Given the description of an element on the screen output the (x, y) to click on. 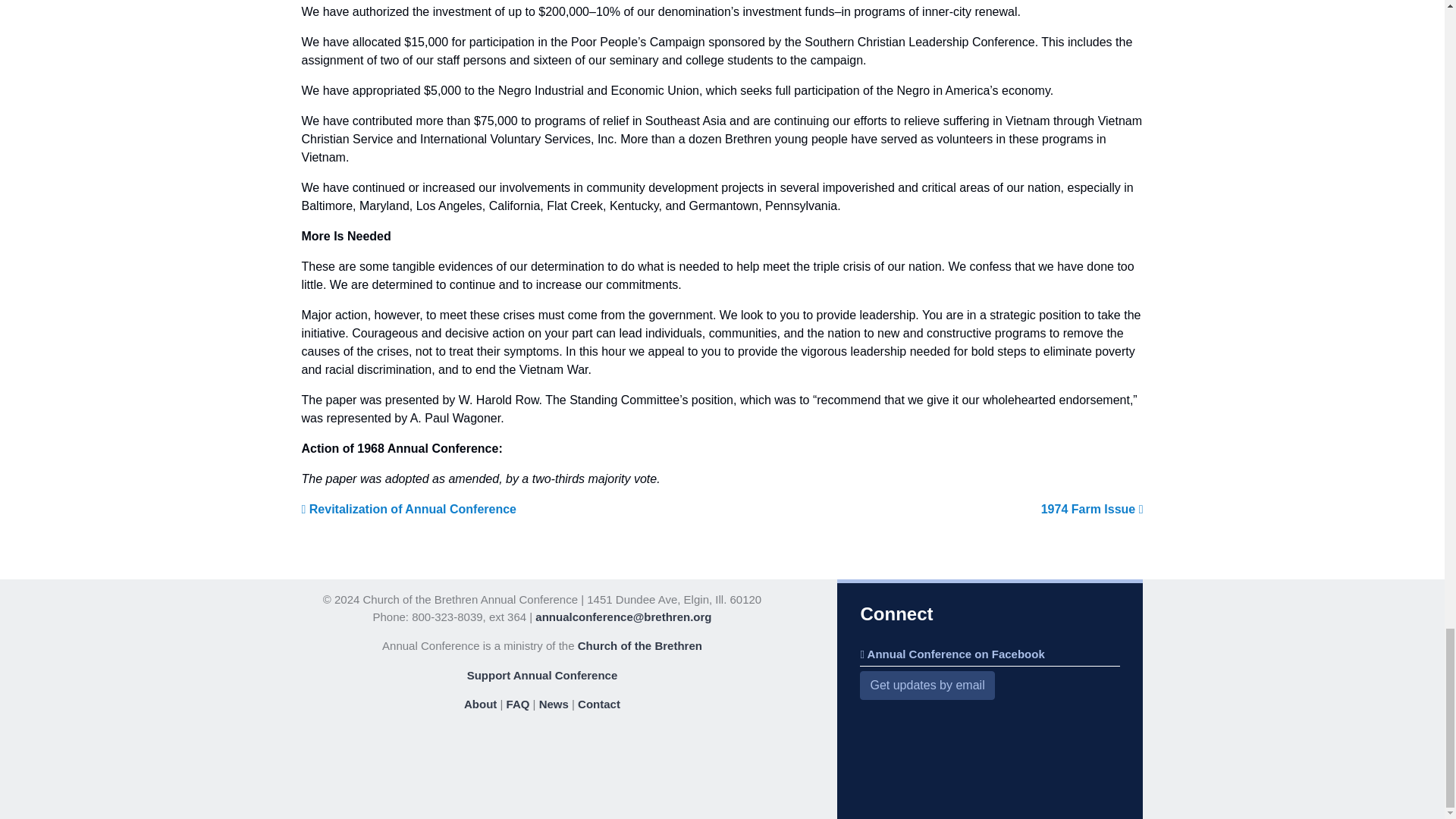
Church of the Brethren (639, 645)
1974 Farm Issue  (1091, 508)
 Revitalization of Annual Conference (408, 508)
Contact (599, 703)
FAQ (517, 703)
News (553, 703)
About (480, 703)
Get updates by email (927, 685)
Annual Conference on Facebook (951, 653)
Support Annual Conference (542, 675)
